Given the description of an element on the screen output the (x, y) to click on. 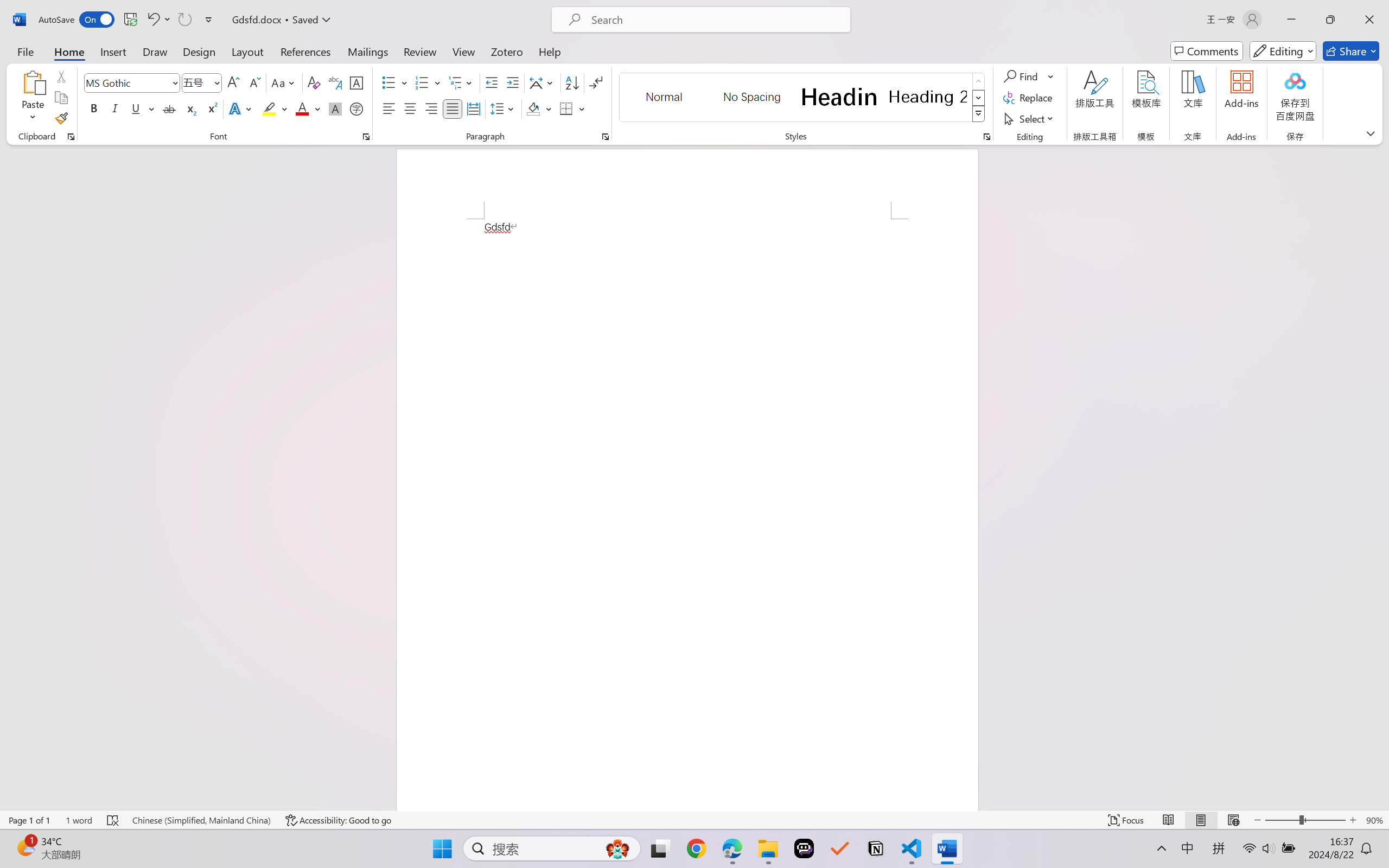
Clear Formatting (313, 82)
Line and Paragraph Spacing (503, 108)
AutomationID: QuickStylesGallery (802, 97)
